Given the description of an element on the screen output the (x, y) to click on. 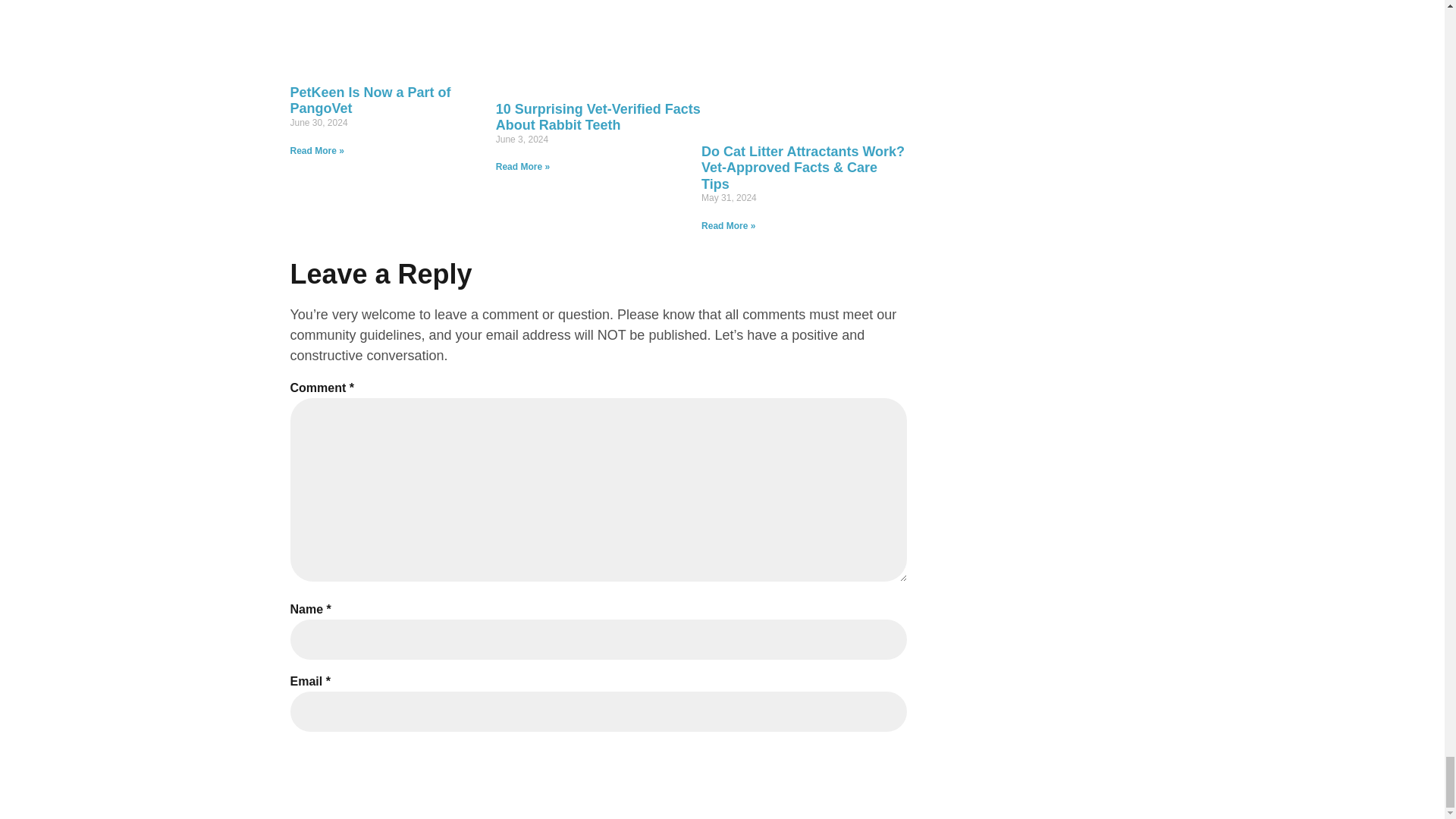
PetKeen Is Now a Part of PangoVet (369, 101)
10 Surprising Vet-Verified Facts About Rabbit Teeth (598, 117)
